Given the description of an element on the screen output the (x, y) to click on. 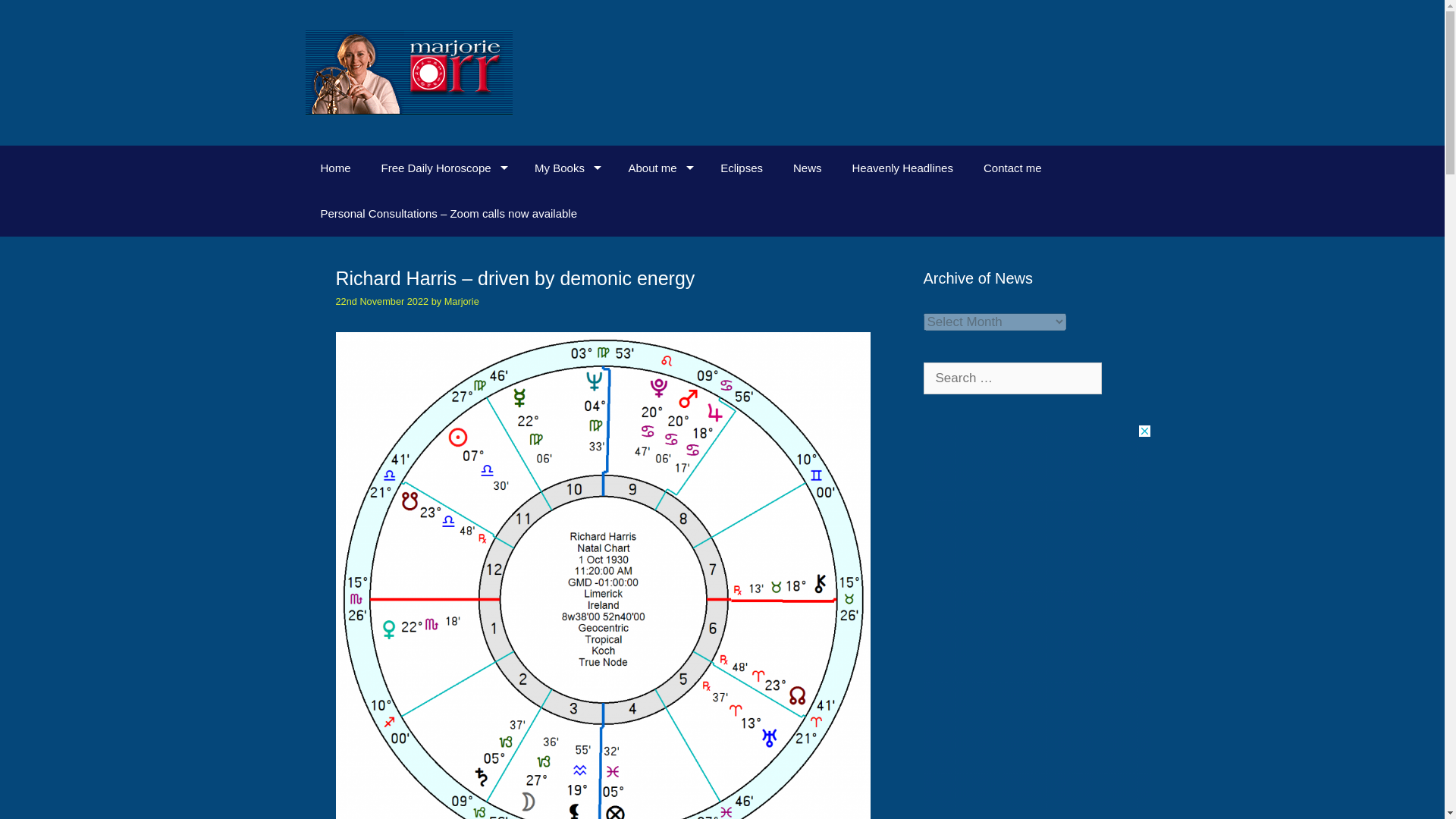
2:43 pm (381, 301)
Marjorie (461, 301)
View all posts by Marjorie (461, 301)
Heavenly Headlines (902, 167)
News (807, 167)
Home (334, 167)
Contact me (1012, 167)
Search for: (1012, 377)
Free Daily Horoscope (442, 167)
Eclipses (740, 167)
About me (658, 167)
22nd November 2022 (381, 301)
My Books (565, 167)
